Given the description of an element on the screen output the (x, y) to click on. 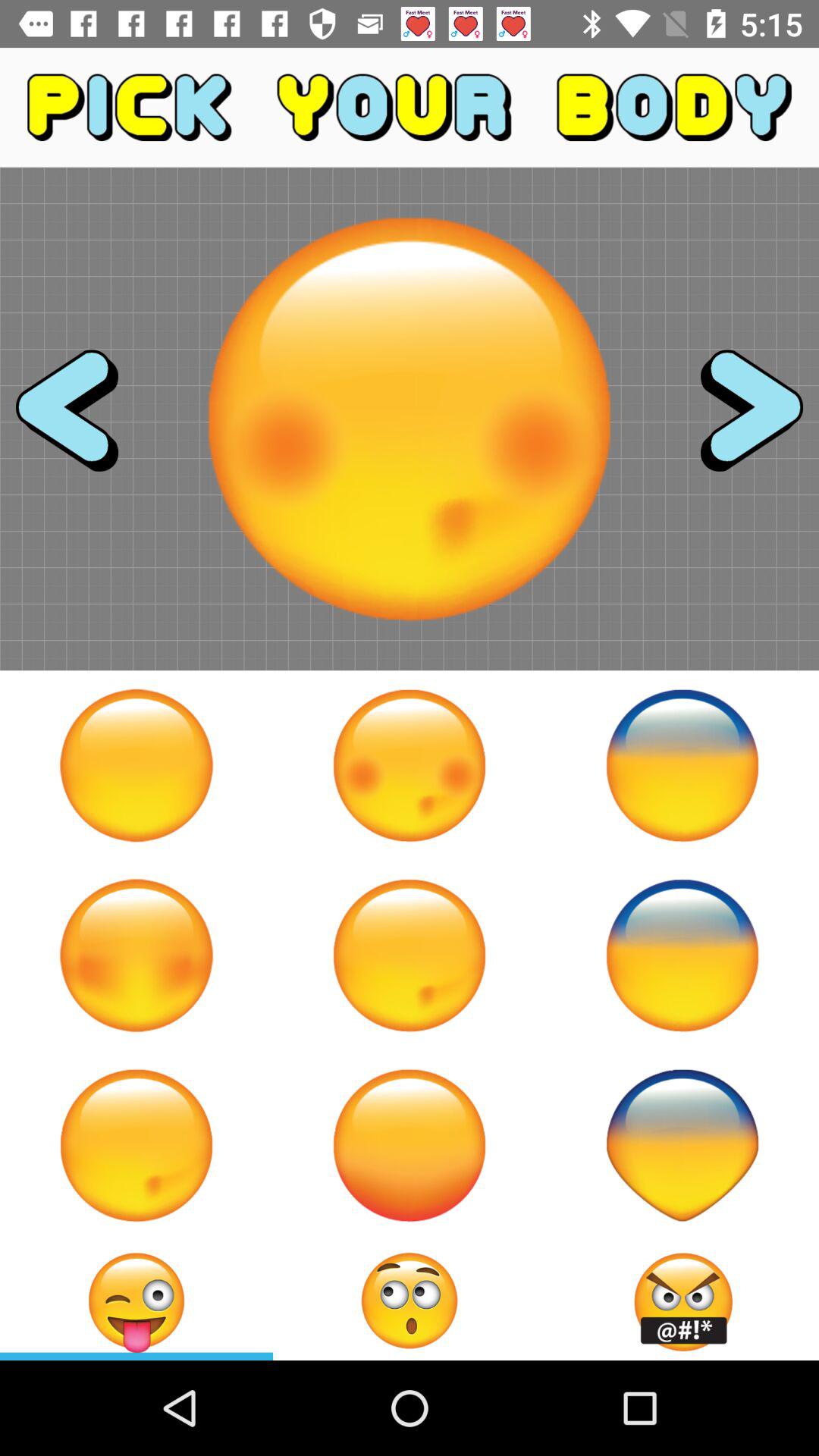
back your body on button (682, 955)
